Given the description of an element on the screen output the (x, y) to click on. 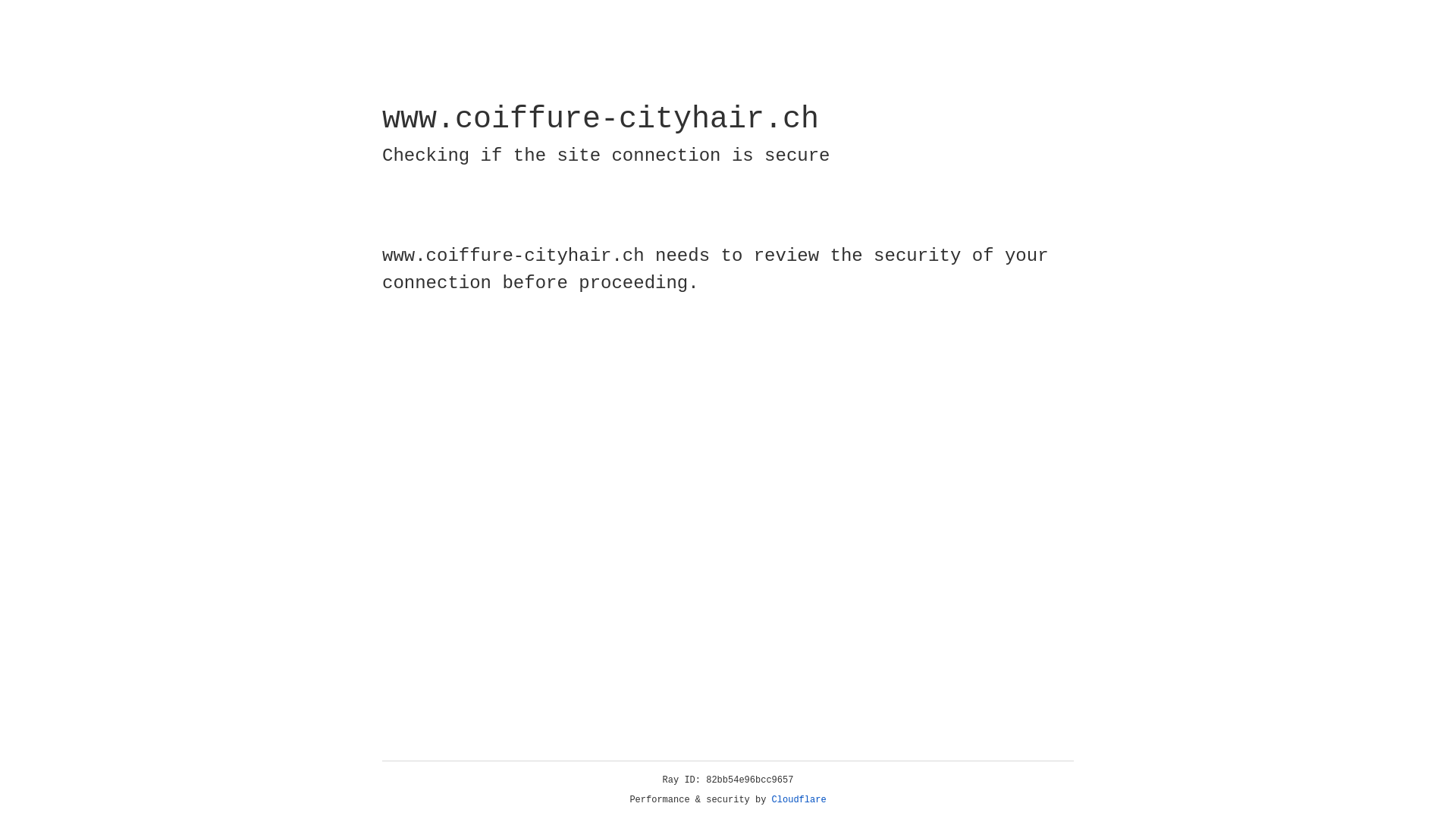
Cloudflare Element type: text (798, 799)
